Given the description of an element on the screen output the (x, y) to click on. 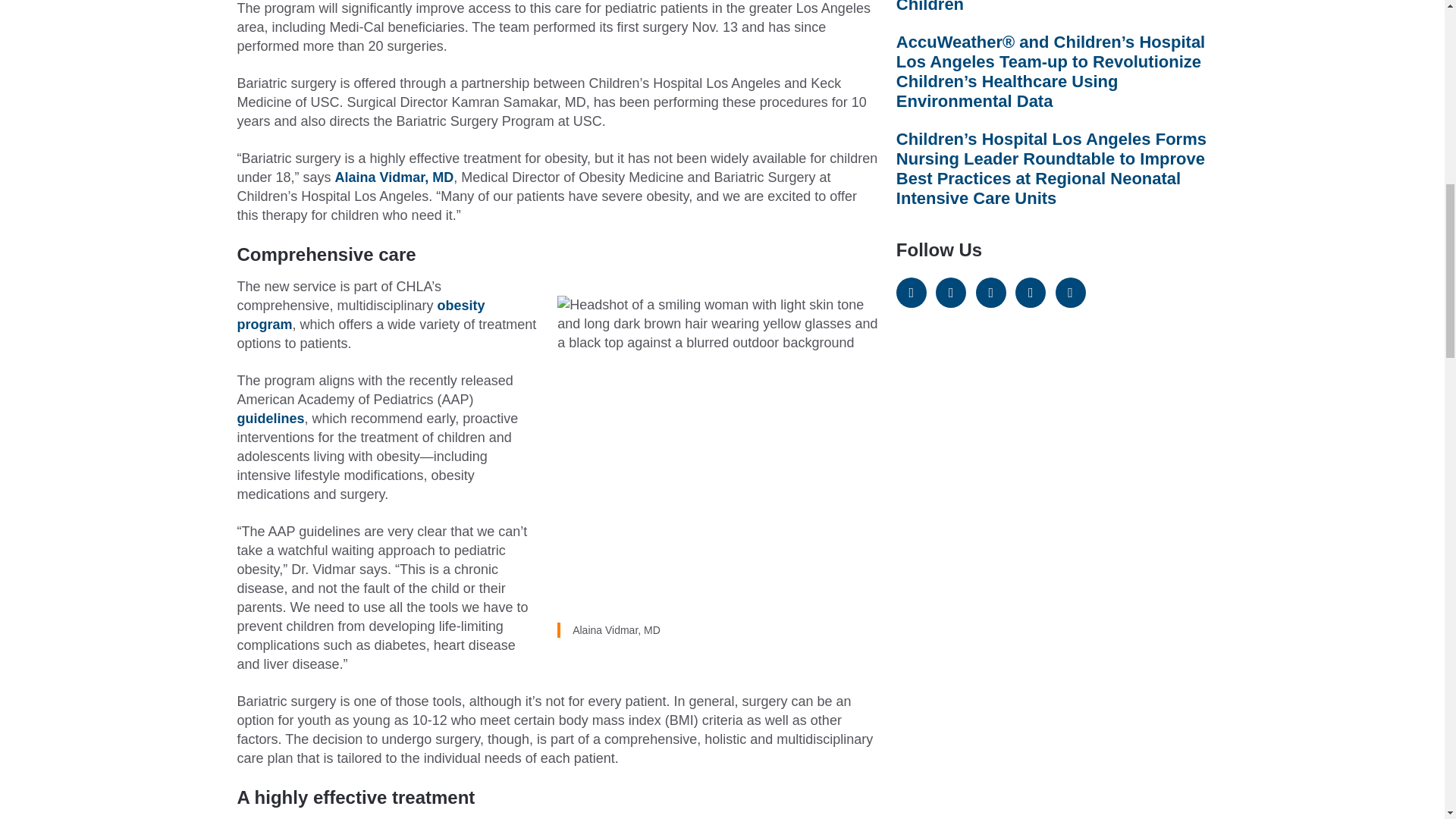
obesity program (359, 315)
Alaina Vidmar, MD (394, 177)
